Given the description of an element on the screen output the (x, y) to click on. 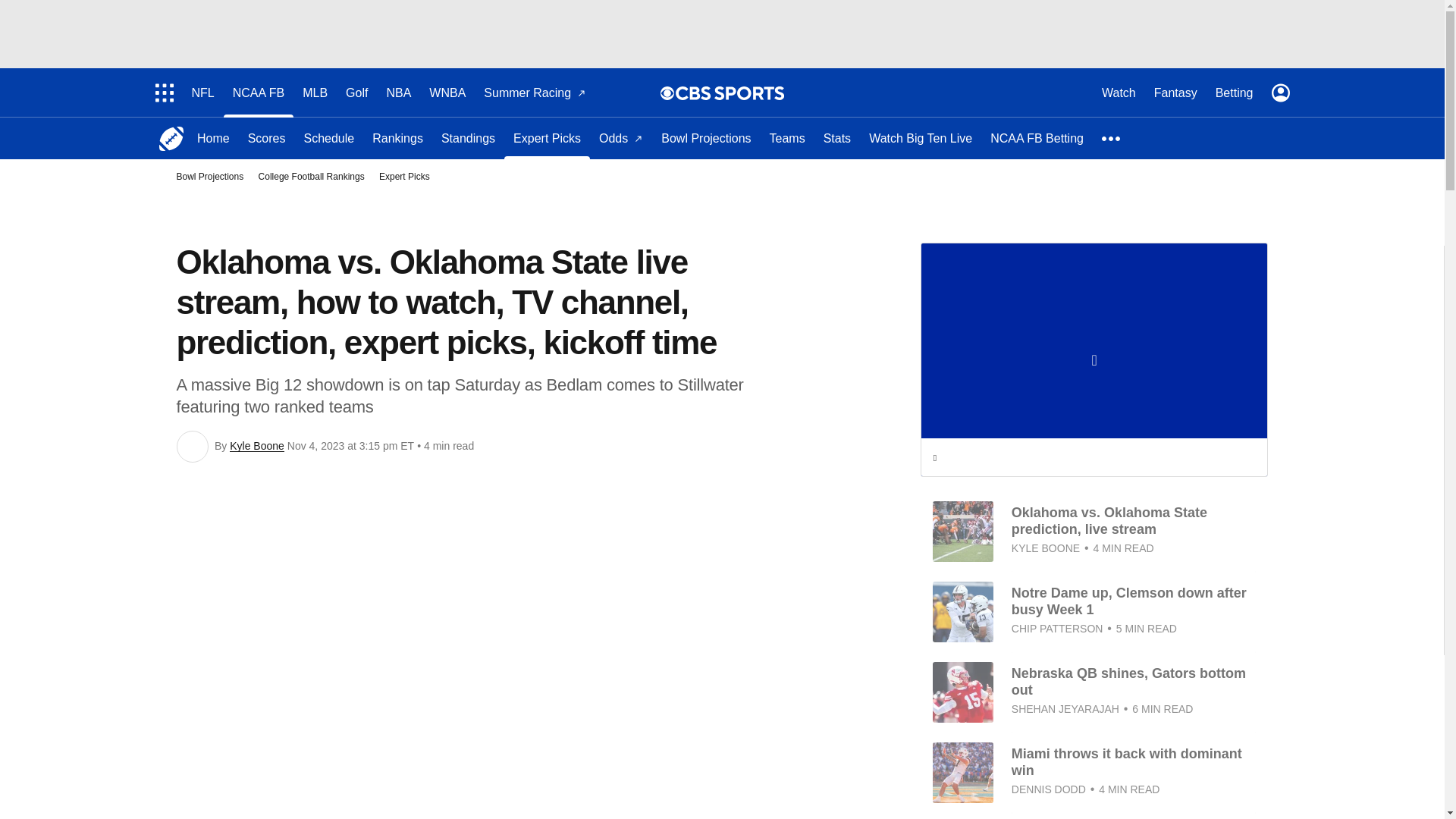
SportsNcaafb (170, 137)
CBS Logo (729, 92)
CBS Eye (667, 92)
